Given the description of an element on the screen output the (x, y) to click on. 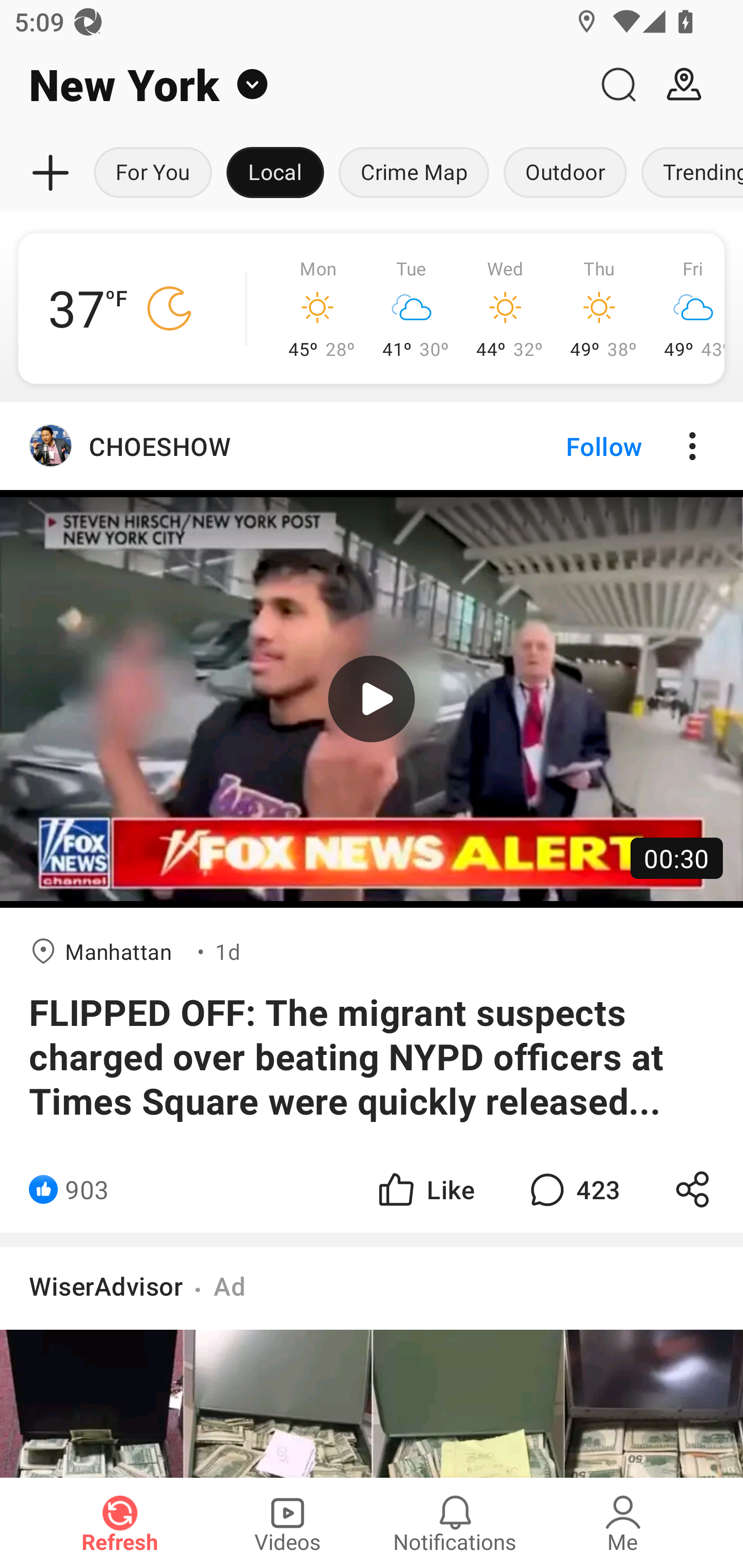
New York (292, 84)
For You (152, 172)
Local (275, 172)
Crime Map (413, 172)
Outdoor (564, 172)
Trending (688, 172)
Mon 45º 28º (317, 307)
Tue 41º 30º (411, 307)
Wed 44º 32º (505, 307)
Thu 49º 38º (599, 307)
Fri 49º 43º (685, 307)
CHOESHOW Follow (371, 445)
Follow (569, 445)
903 (87, 1189)
Like (425, 1189)
423 (572, 1189)
WiserAdvisor (105, 1285)
Videos (287, 1522)
Notifications (455, 1522)
Me (622, 1522)
